Given the description of an element on the screen output the (x, y) to click on. 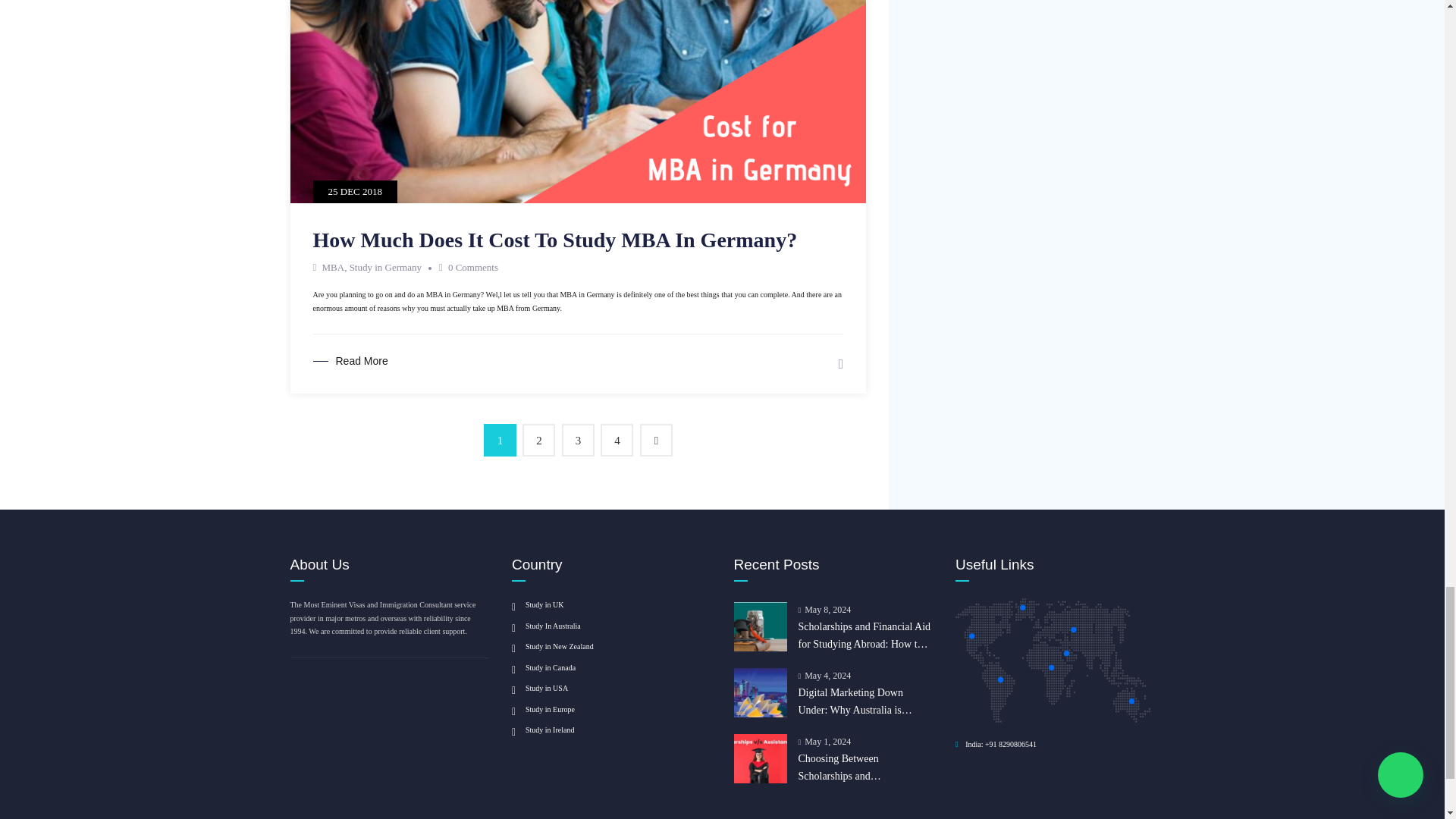
Useful Links (1052, 660)
